Given the description of an element on the screen output the (x, y) to click on. 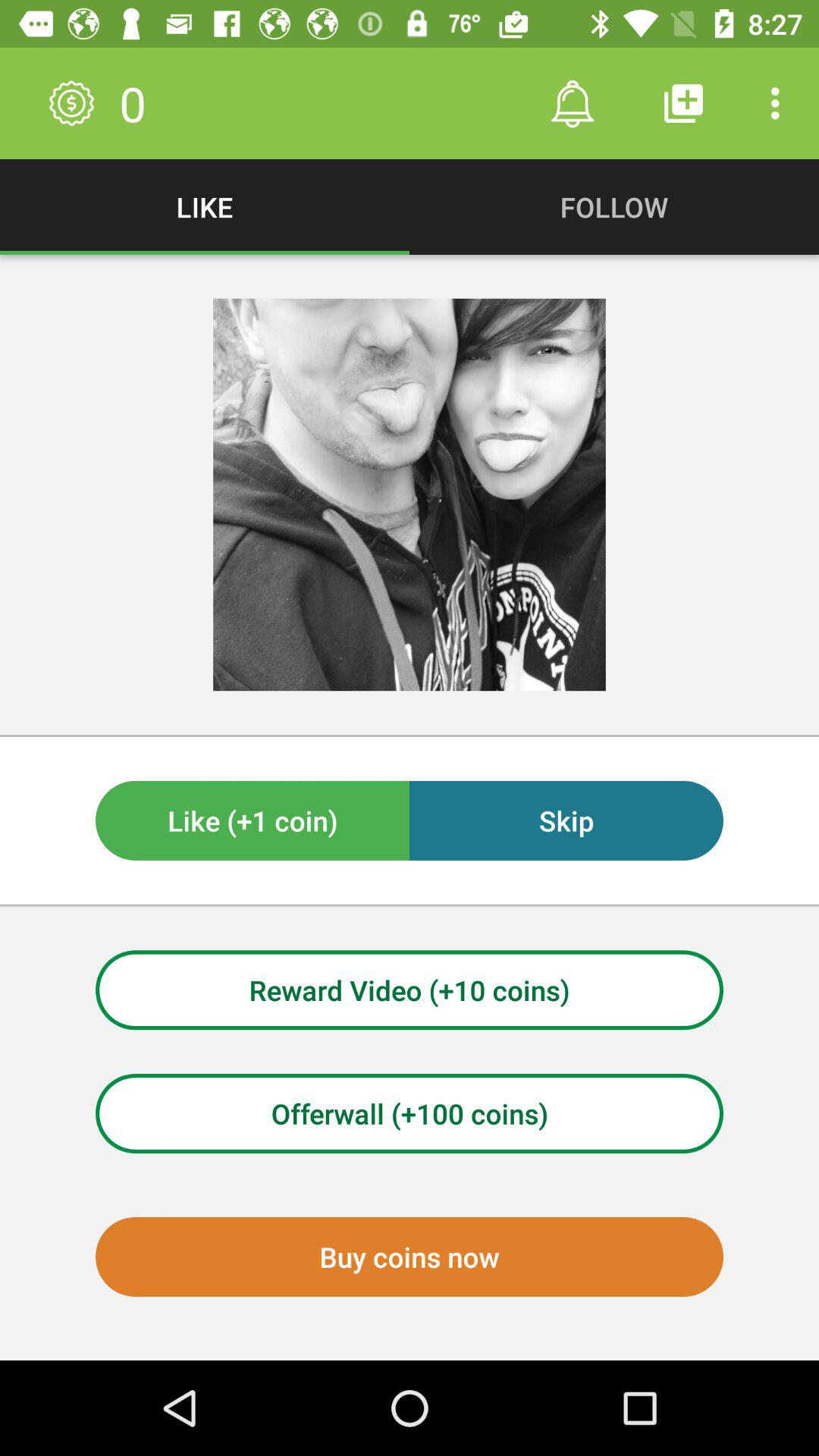
turn on the icon on the right (566, 820)
